Given the description of an element on the screen output the (x, y) to click on. 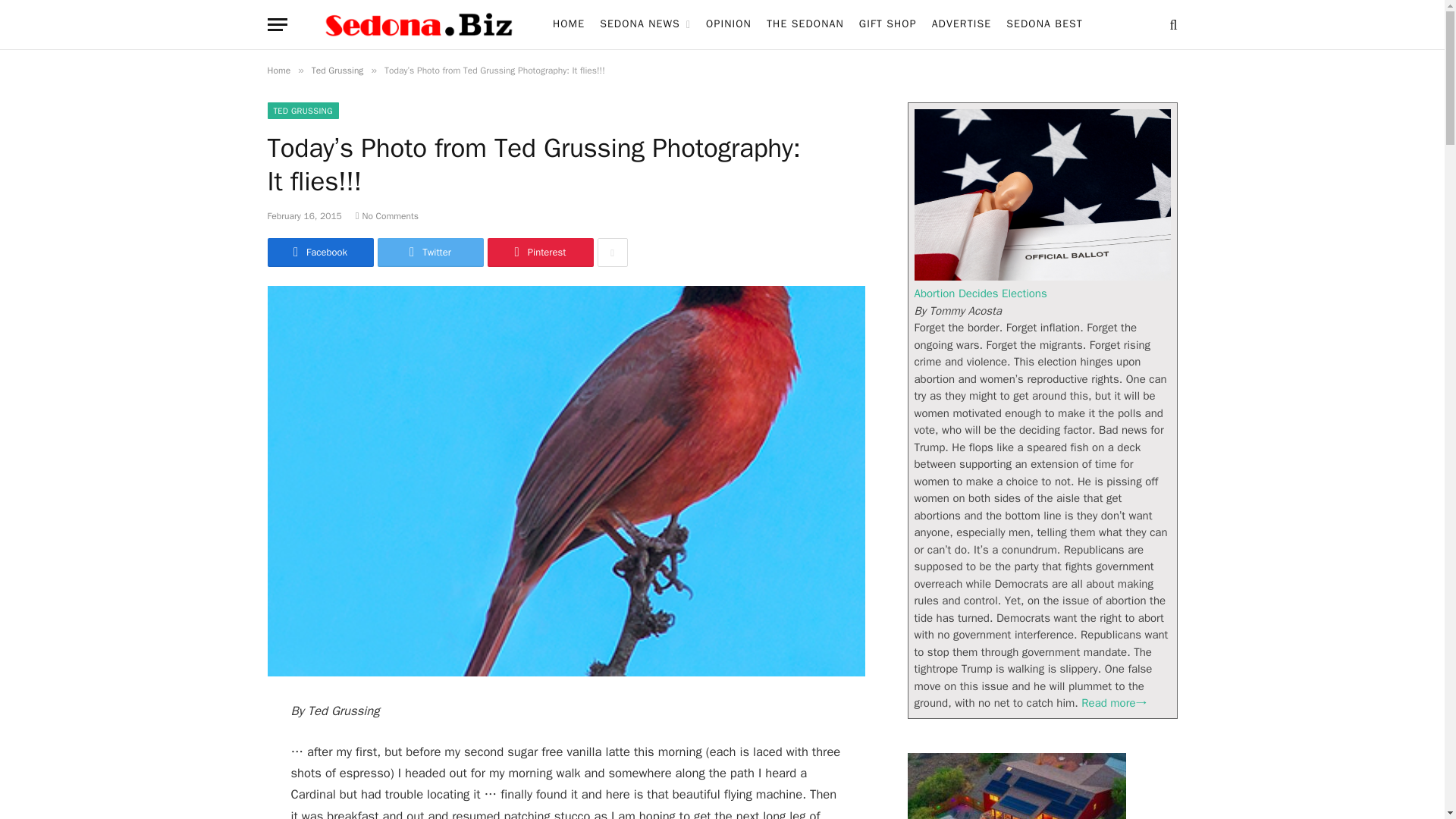
OPINION (728, 24)
Twitter (430, 252)
Ted Grussing (337, 70)
Facebook (319, 252)
Home (277, 70)
GIFT SHOP (887, 24)
HOME (568, 24)
Share on Twitter (430, 252)
Share on Pinterest (539, 252)
TED GRUSSING (301, 110)
